Given the description of an element on the screen output the (x, y) to click on. 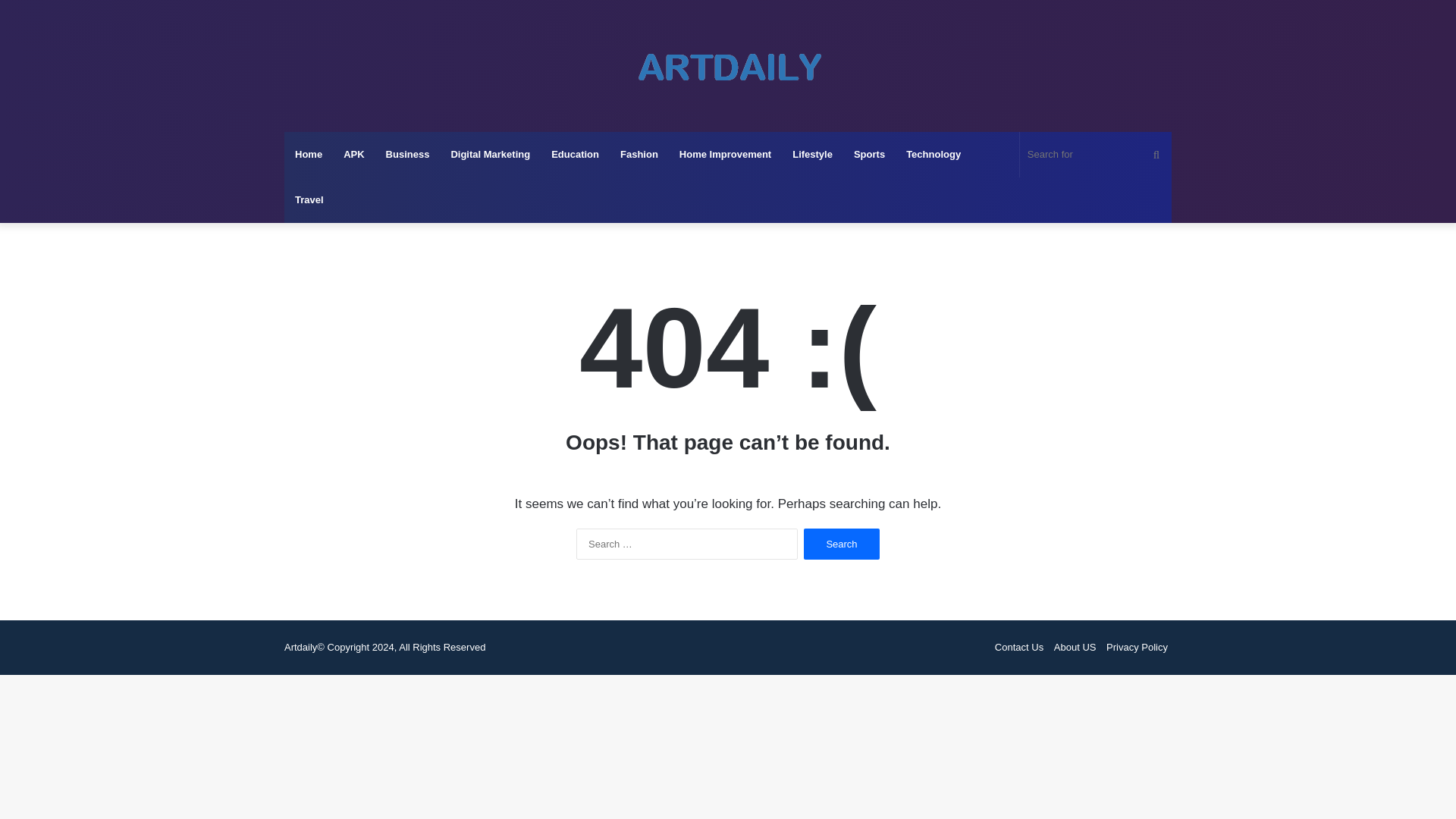
About US (1075, 646)
Business (408, 154)
Education (575, 154)
Lifestyle (812, 154)
Home Improvement (724, 154)
Search (841, 543)
Privacy Policy (1136, 646)
Search (841, 543)
Fashion (639, 154)
Search for (1096, 154)
